Given the description of an element on the screen output the (x, y) to click on. 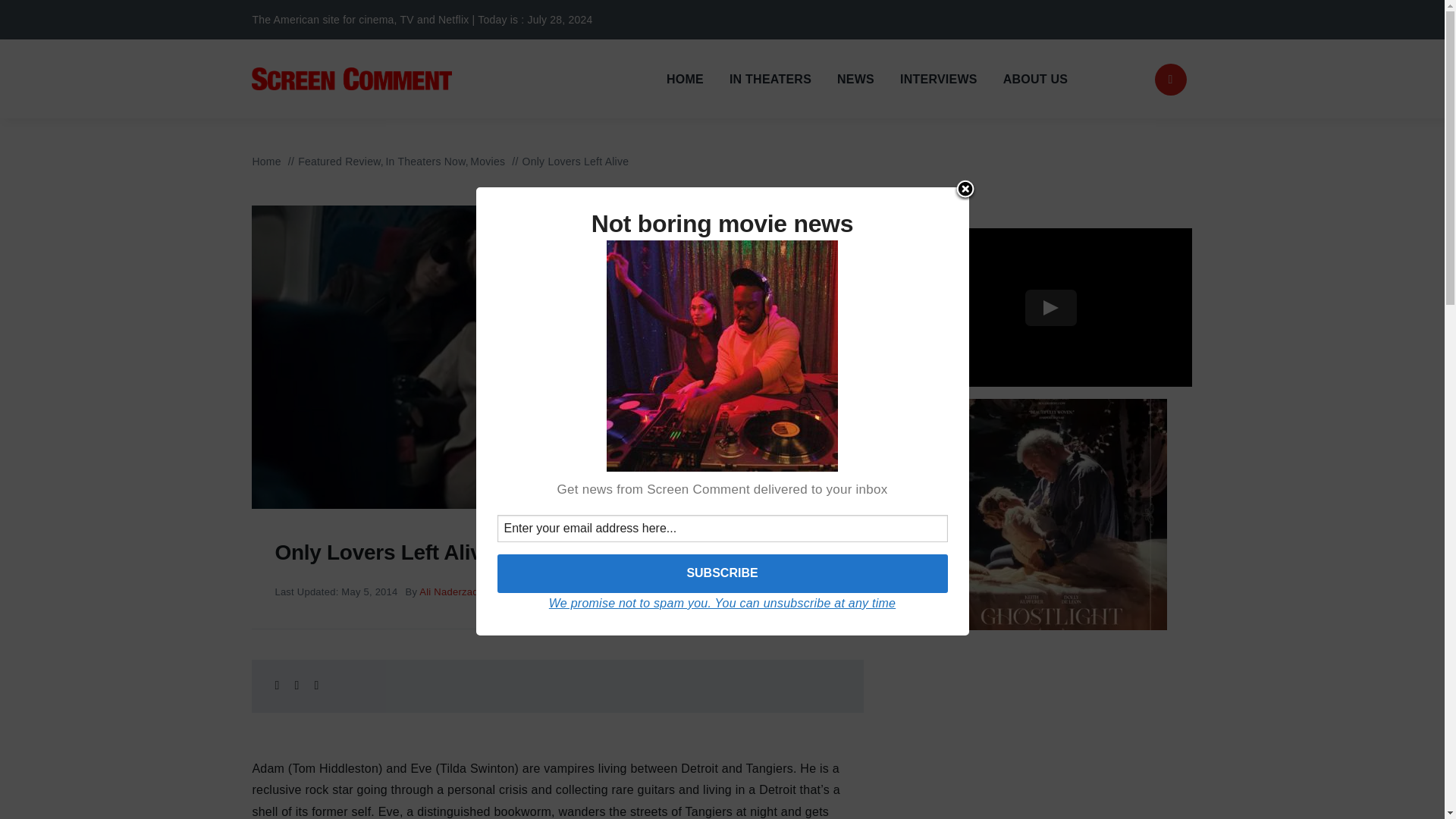
Ali Naderzad (448, 591)
Featured Review (339, 161)
Tilda Swinton (710, 591)
Only lovers left alive (628, 591)
Subscribe (722, 573)
Movies (487, 161)
IN THEATERS (769, 78)
INTERVIEWS (937, 78)
Play (1051, 307)
Posts by Ali Naderzad (448, 591)
NEWS (856, 78)
Take Action Now! (243, 19)
Subscribe (722, 573)
In Theaters Now (424, 161)
Tom Hiddleston (781, 591)
